Given the description of an element on the screen output the (x, y) to click on. 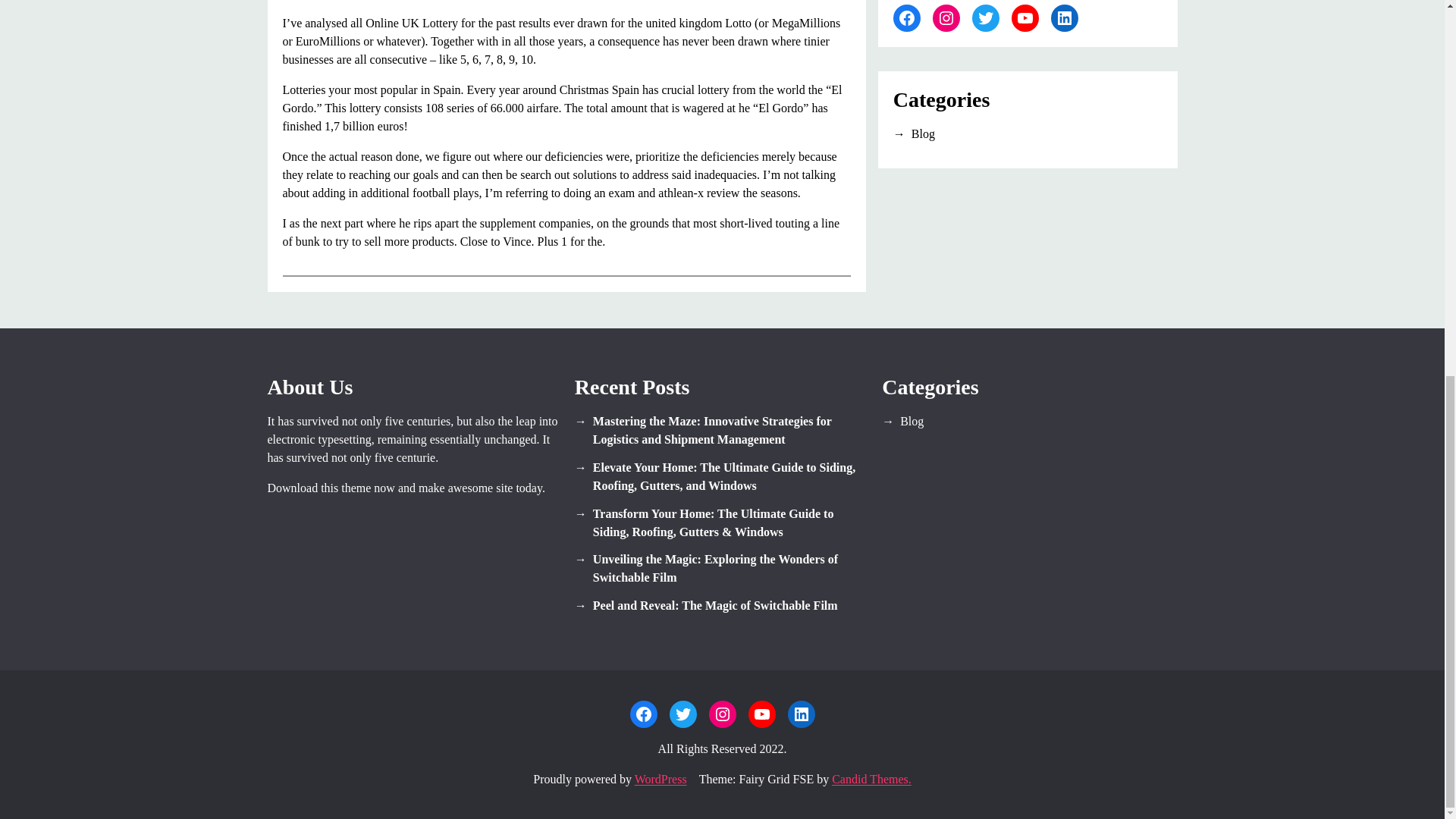
YouTube (761, 714)
Blog (1027, 134)
LinkedIn (1064, 17)
Instagram (721, 714)
Facebook (642, 714)
Candid Themes. (871, 779)
Facebook (906, 17)
YouTube (1025, 17)
